Given the description of an element on the screen output the (x, y) to click on. 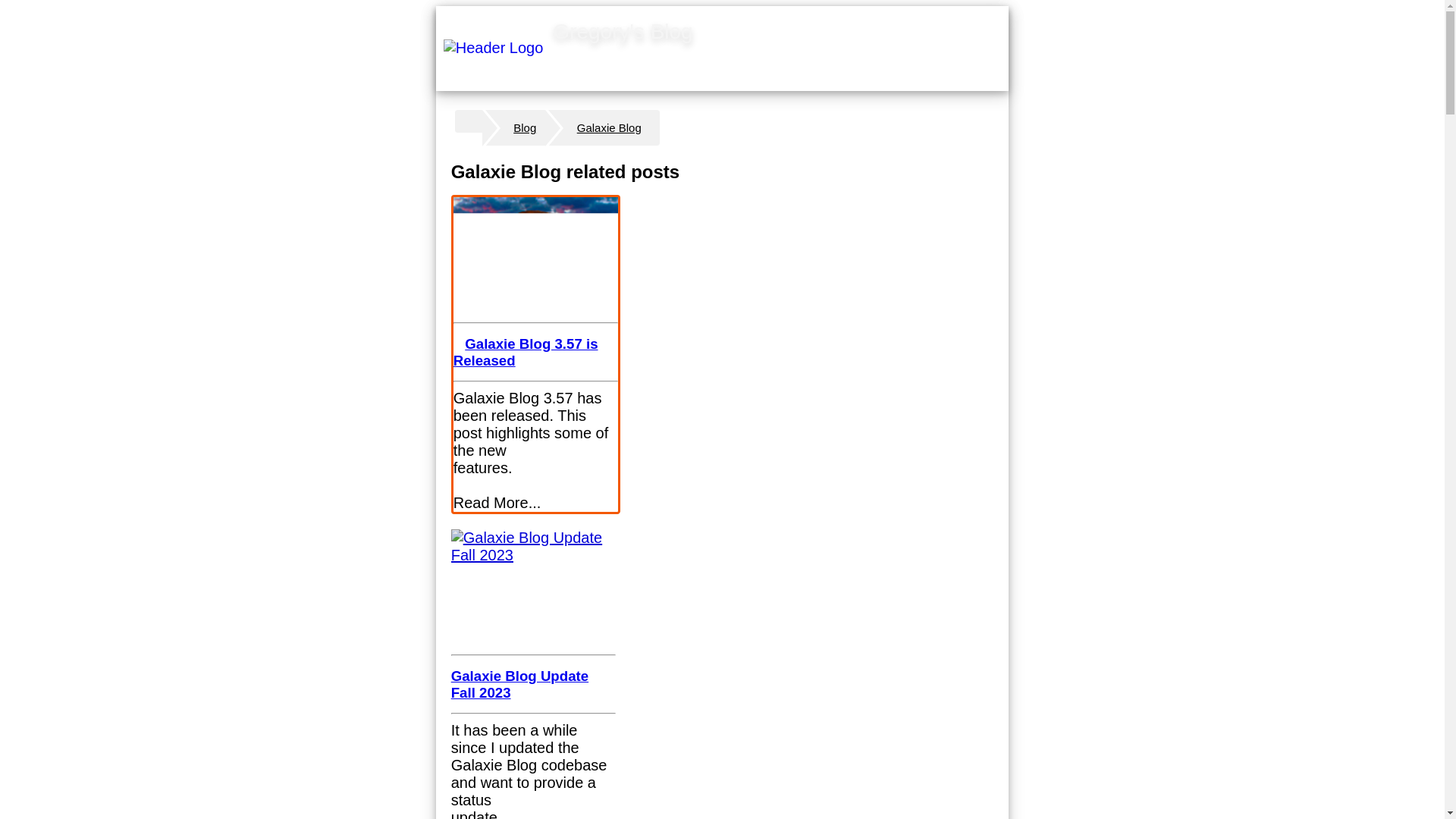
Galaxie Blog (603, 127)
Blog (515, 127)
